Given the description of an element on the screen output the (x, y) to click on. 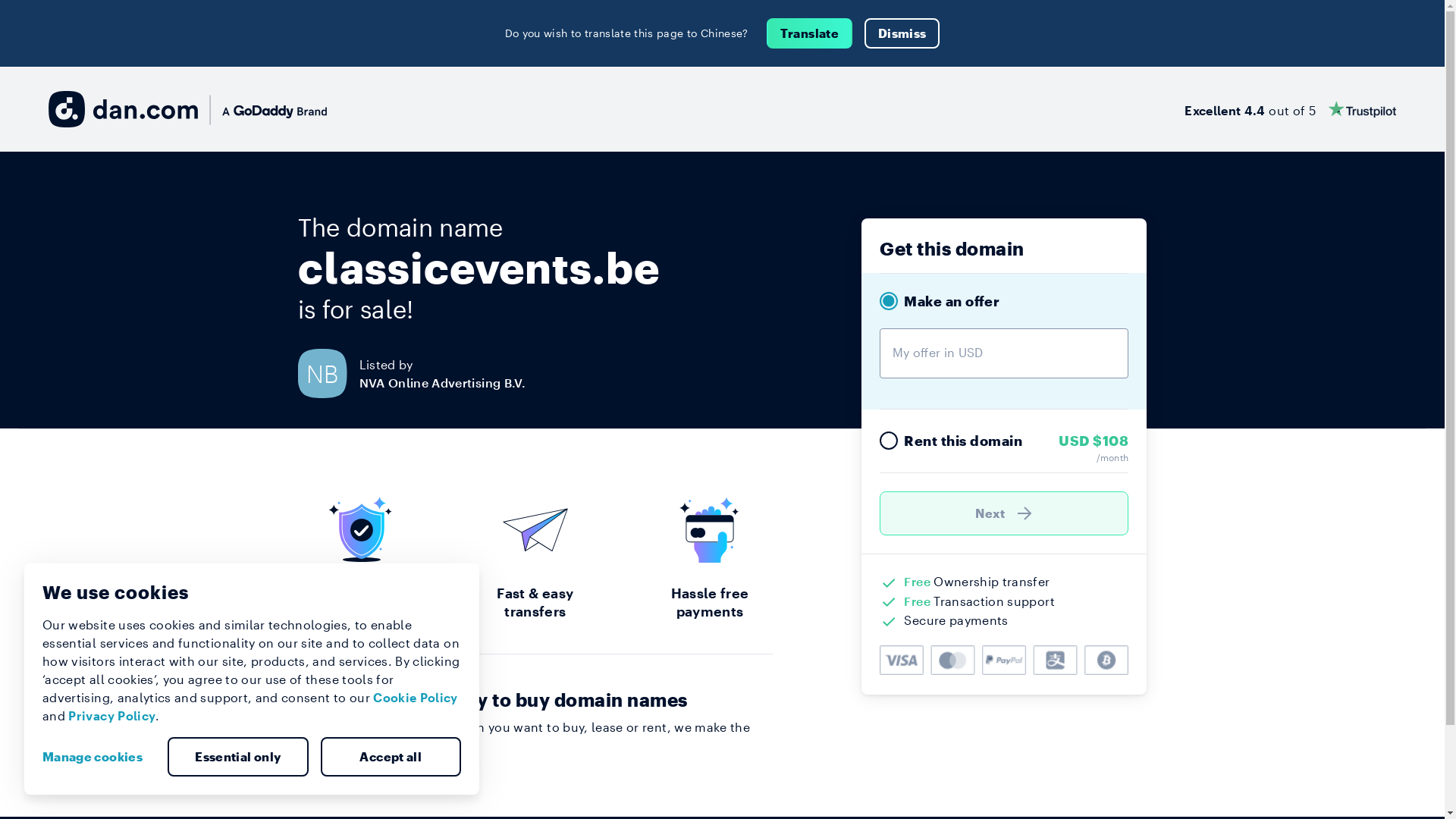
Essential only Element type: text (237, 756)
Privacy Policy Element type: text (111, 715)
Cookie Policy Element type: text (415, 697)
Next
) Element type: text (1003, 513)
Accept all Element type: text (390, 756)
Excellent 4.4 out of 5 Element type: text (1290, 109)
Dismiss Element type: text (901, 33)
Manage cookies Element type: text (98, 756)
Translate Element type: text (809, 33)
